Given the description of an element on the screen output the (x, y) to click on. 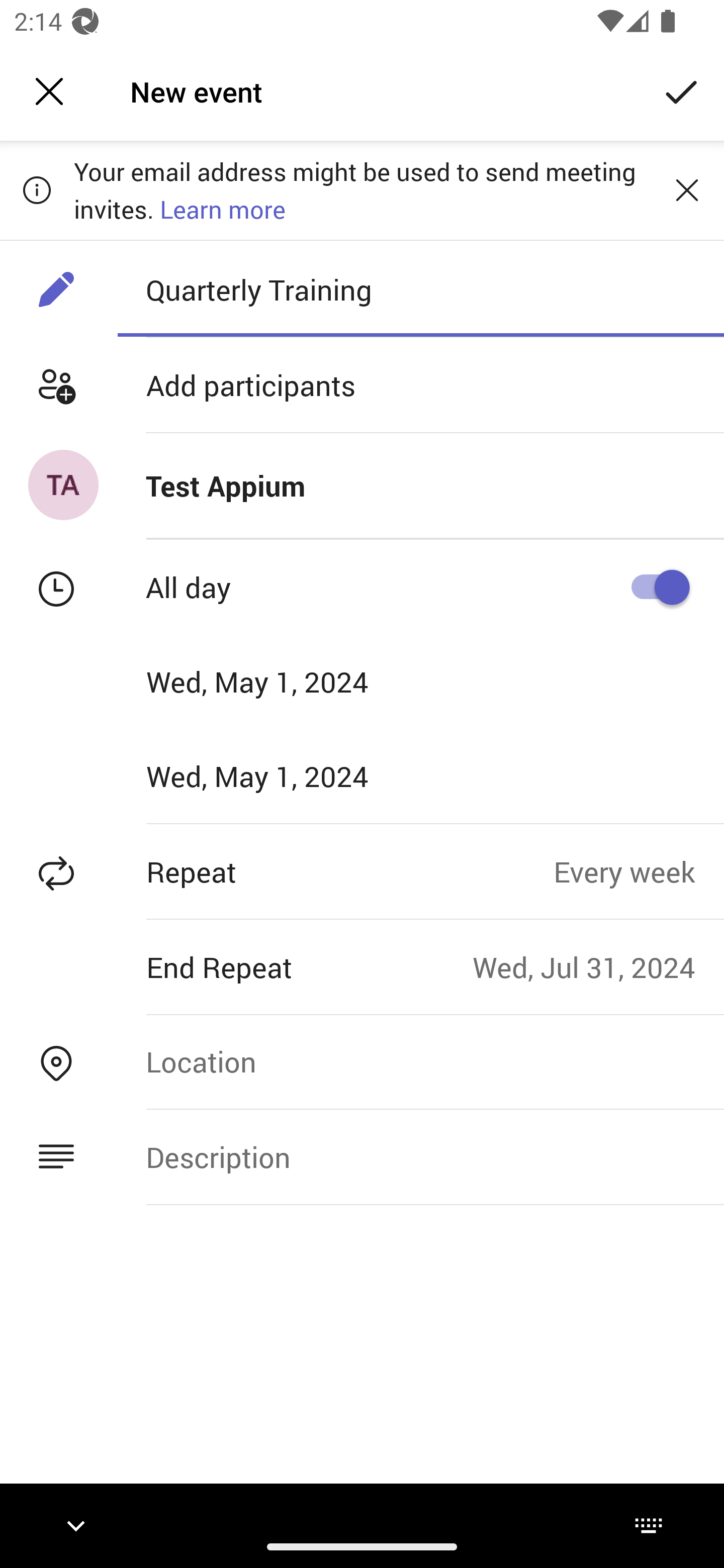
Back (49, 91)
Send invite (681, 90)
Dismiss banner (687, 189)
Quarterly Training (420, 289)
Add participants Add participants option (362, 384)
All day (654, 586)
Wed, May 1, 2024 Starts Wednesday May 01, 2024 (288, 681)
Wed, May 1, 2024 Ends Wednesday May 01, 2024 (288, 776)
Repeat (276, 871)
Every week Repeat Every week (638, 871)
End Repeat (236, 967)
Location (420, 1061)
Description (420, 1157)
